Given the description of an element on the screen output the (x, y) to click on. 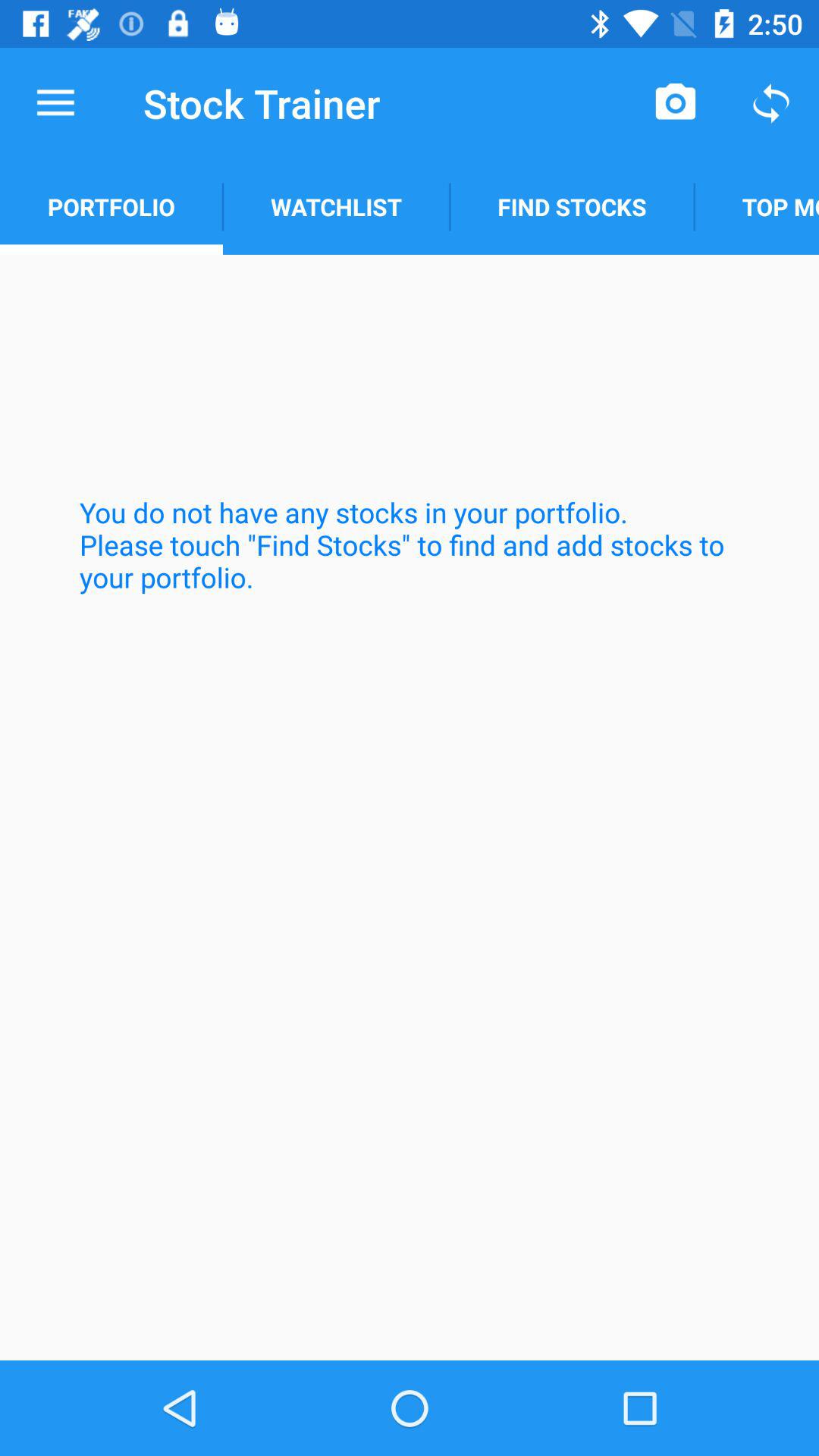
open the item next to find stocks item (335, 206)
